Given the description of an element on the screen output the (x, y) to click on. 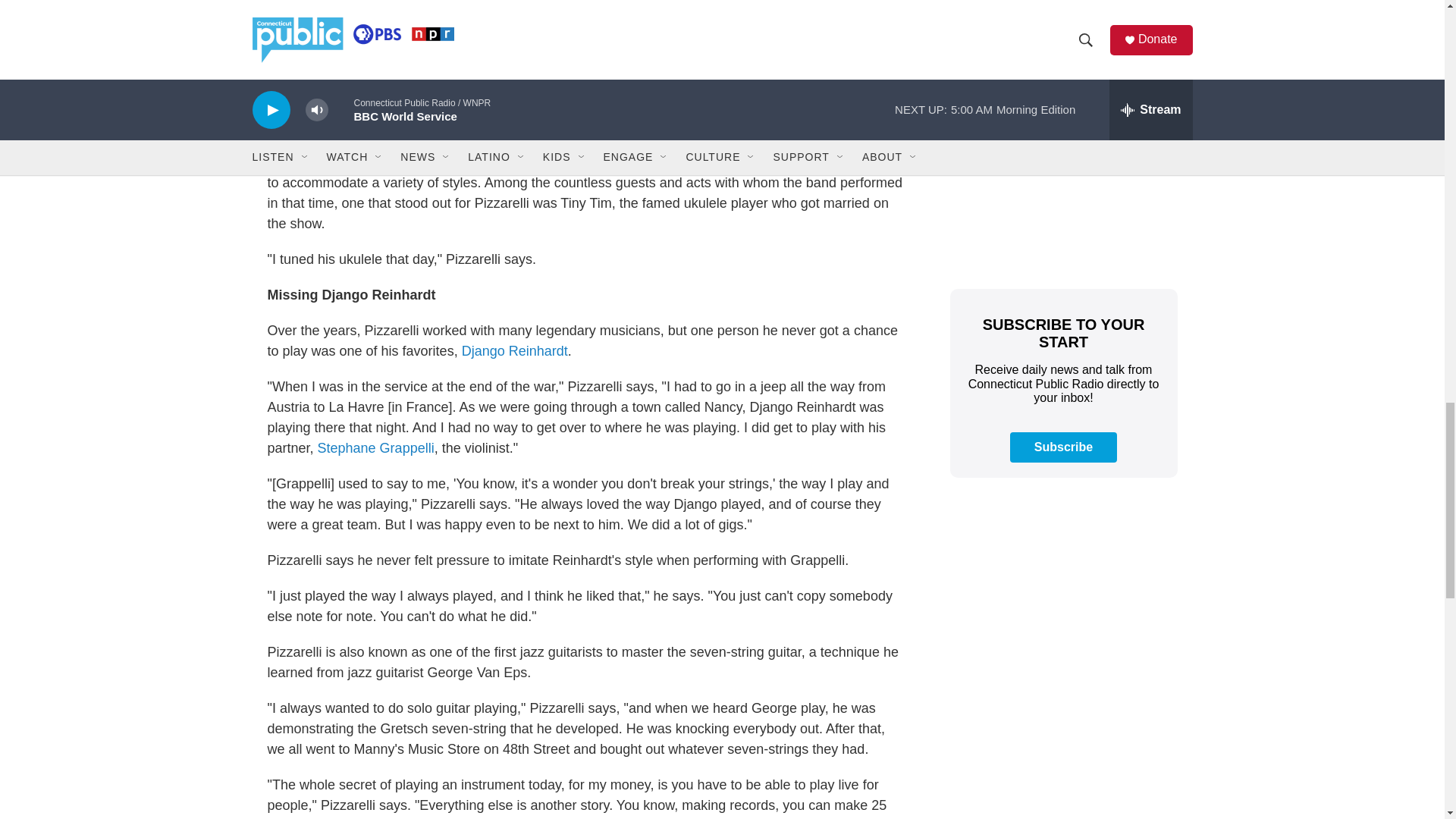
3rd party ad content (1062, 163)
3rd party ad content (1062, 773)
3rd party ad content (1062, 602)
3rd party ad content (1062, 19)
